Given the description of an element on the screen output the (x, y) to click on. 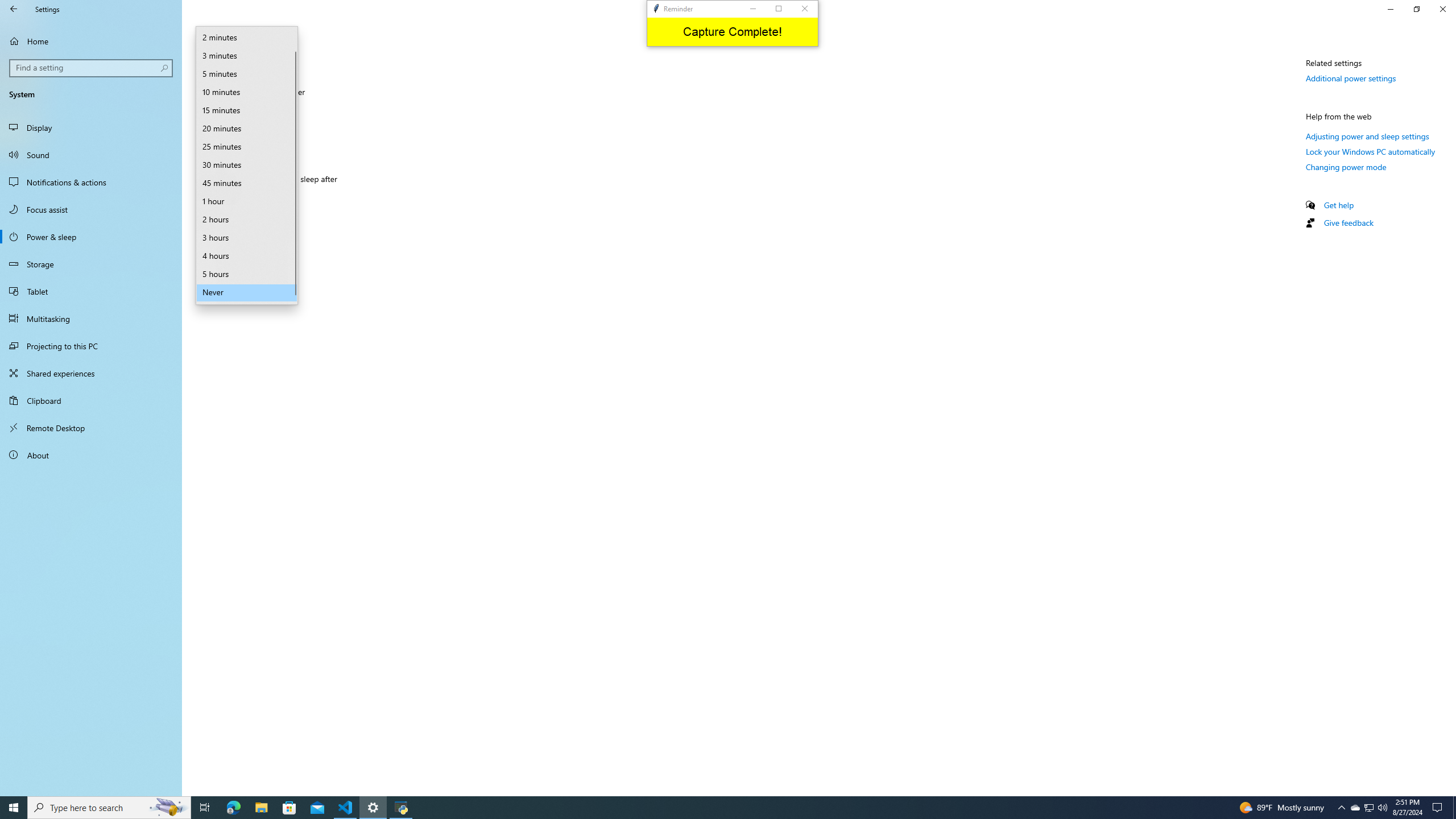
45 minutes (246, 183)
When plugged in, turn off after (246, 110)
5 minutes (246, 74)
2 hours (246, 220)
Never (240, 197)
Changing power mode (1346, 166)
Display (91, 126)
4 hours (246, 256)
Sound (91, 154)
Storage (91, 263)
